Given the description of an element on the screen output the (x, y) to click on. 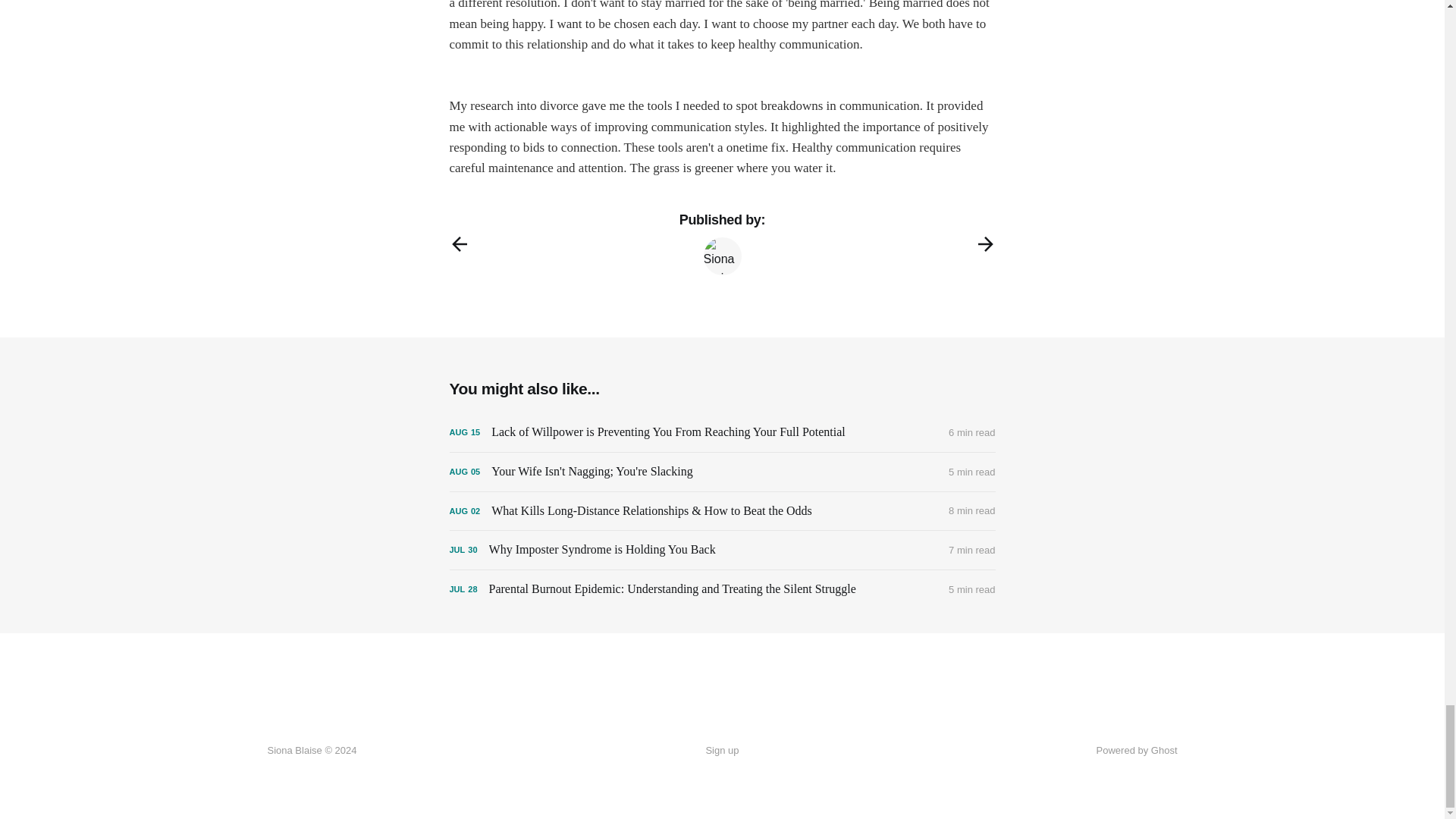
Sign up (721, 750)
Powered by Ghost (1136, 749)
